Given the description of an element on the screen output the (x, y) to click on. 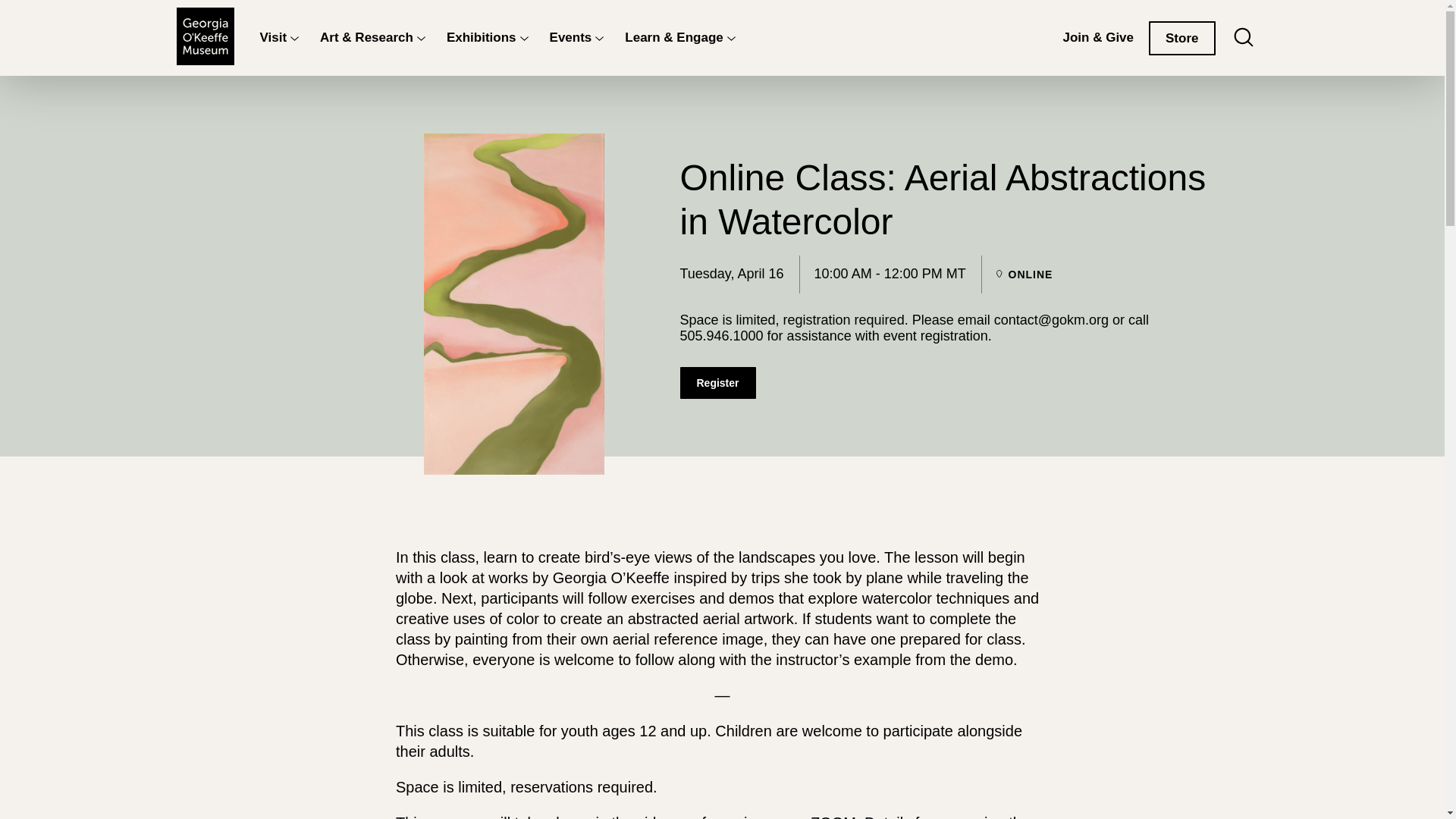
Search (1242, 37)
Store (1181, 38)
The Georgia O'Keeffe Museum (204, 37)
Exhibitions (481, 38)
